Given the description of an element on the screen output the (x, y) to click on. 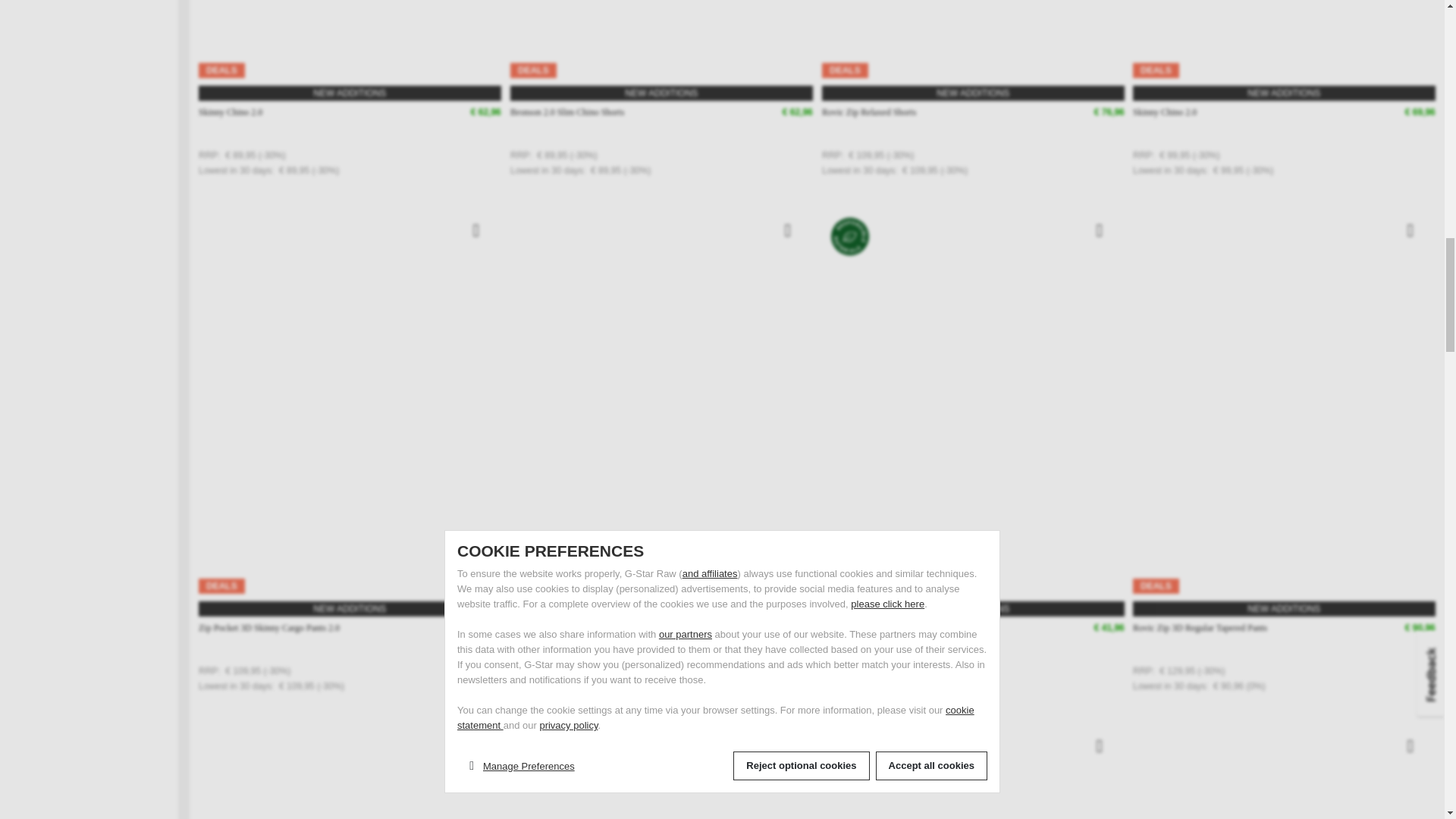
Bronson 2.0 Slim Chino Shorts (567, 111)
Rovic Zip 3D Regular Tapered Pants (1199, 627)
Skinny Chino 2.0 (230, 111)
Skinny Chino 2.0 (542, 627)
Zip Pocket 3D Skinny Cargo Pants 2.0 (268, 627)
Rovic Zip Relaxed Shorts (868, 111)
Carnic 2.0 Swim Shorts (865, 627)
Skinny Chino 2.0 (1164, 111)
